Given the description of an element on the screen output the (x, y) to click on. 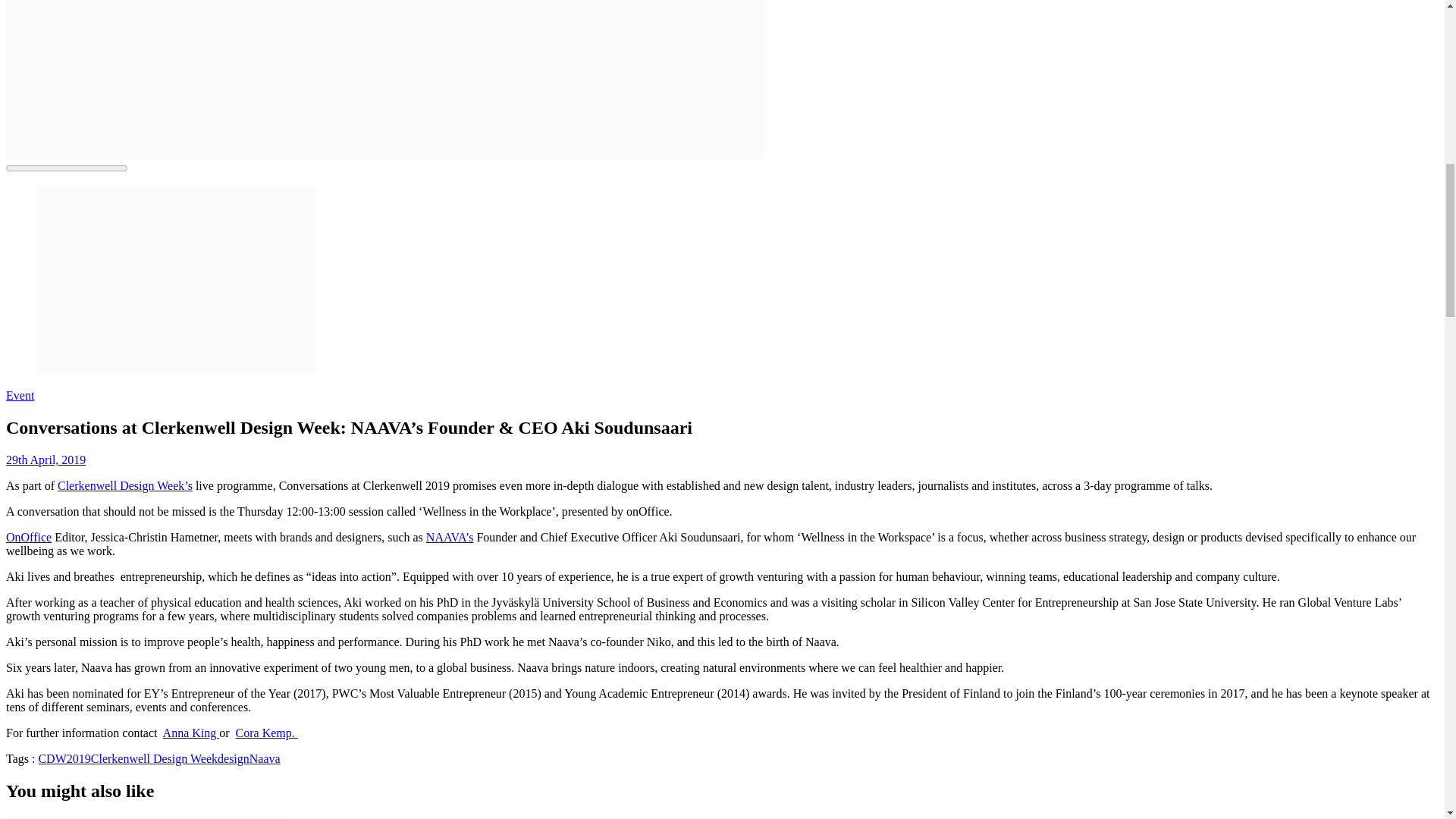
Event (19, 395)
Clerkenwell Design Week (153, 758)
Naava (264, 758)
Cora Kemp.  (266, 732)
CDW2019 (63, 758)
Anna King  (191, 732)
OnOffice (27, 536)
design (232, 758)
29th April, 2019 (45, 459)
